Given the description of an element on the screen output the (x, y) to click on. 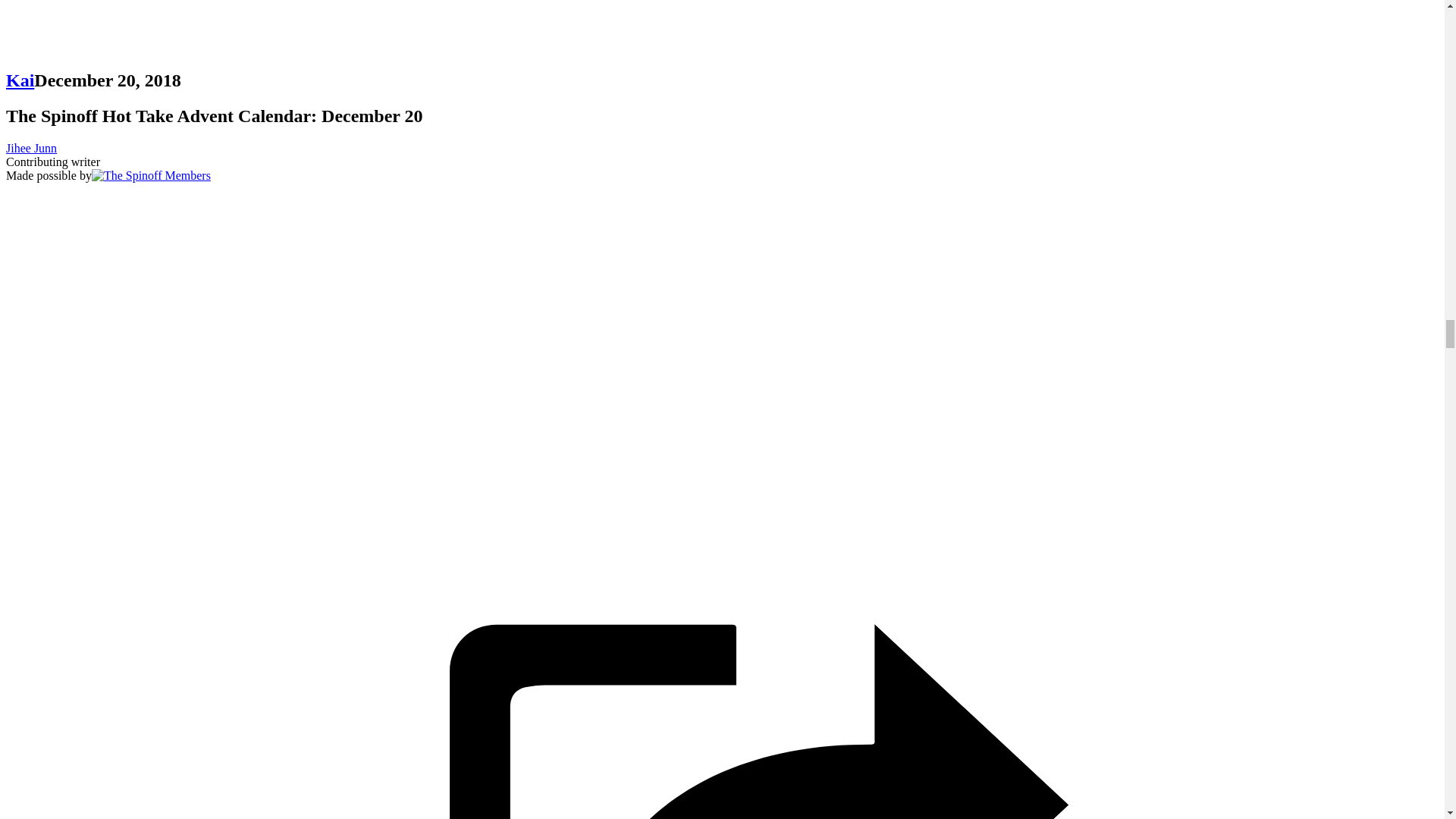
Kai (19, 80)
Jihee Junn (30, 147)
view all posts by Jihee Junn (30, 147)
